Given the description of an element on the screen output the (x, y) to click on. 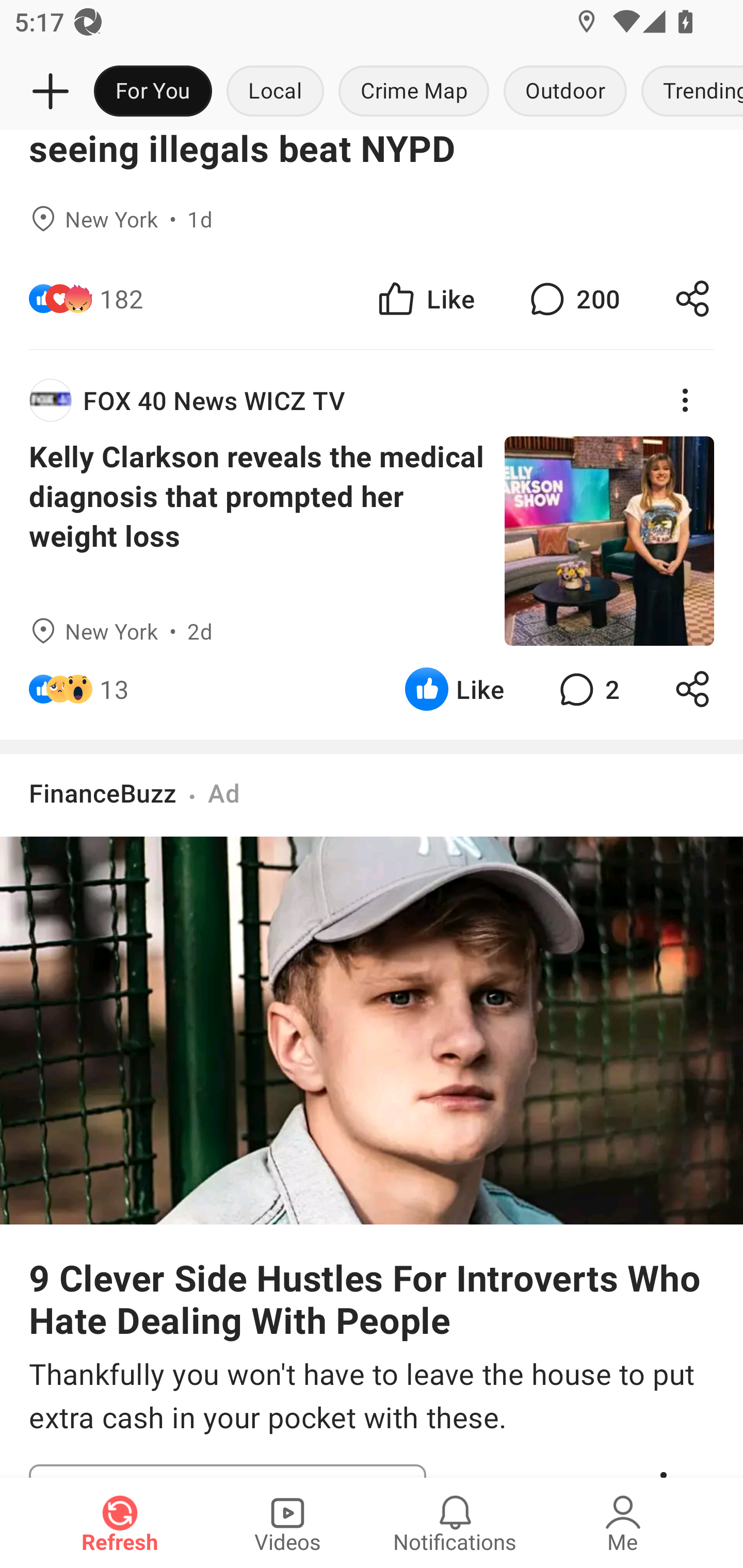
For You (152, 91)
Local (275, 91)
Crime Map (413, 91)
Outdoor (564, 91)
Trending (688, 91)
182 (121, 298)
Like (425, 298)
200 (572, 298)
13 (114, 689)
Like (454, 689)
2 (587, 689)
FinanceBuzz (102, 792)
Videos (287, 1522)
Notifications (455, 1522)
Me (622, 1522)
